Given the description of an element on the screen output the (x, y) to click on. 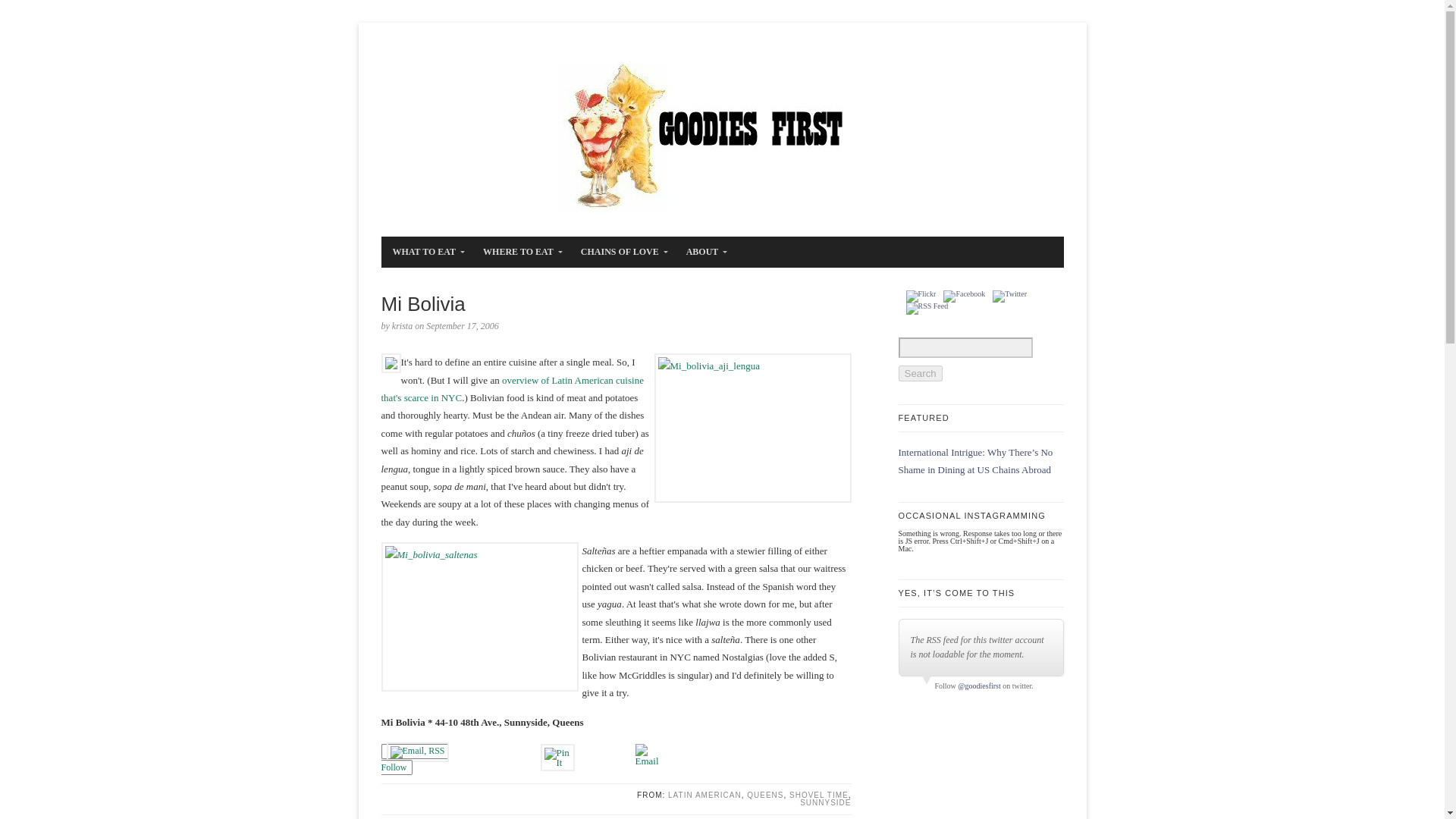
Facebook (964, 296)
WHAT TO EAT (425, 251)
RSS (926, 308)
Email, RSS (417, 752)
Flickr (920, 296)
Email (646, 754)
Search (920, 373)
Twitter (1009, 296)
WHERE TO EAT (519, 251)
Share on Tumblr (605, 751)
